Given the description of an element on the screen output the (x, y) to click on. 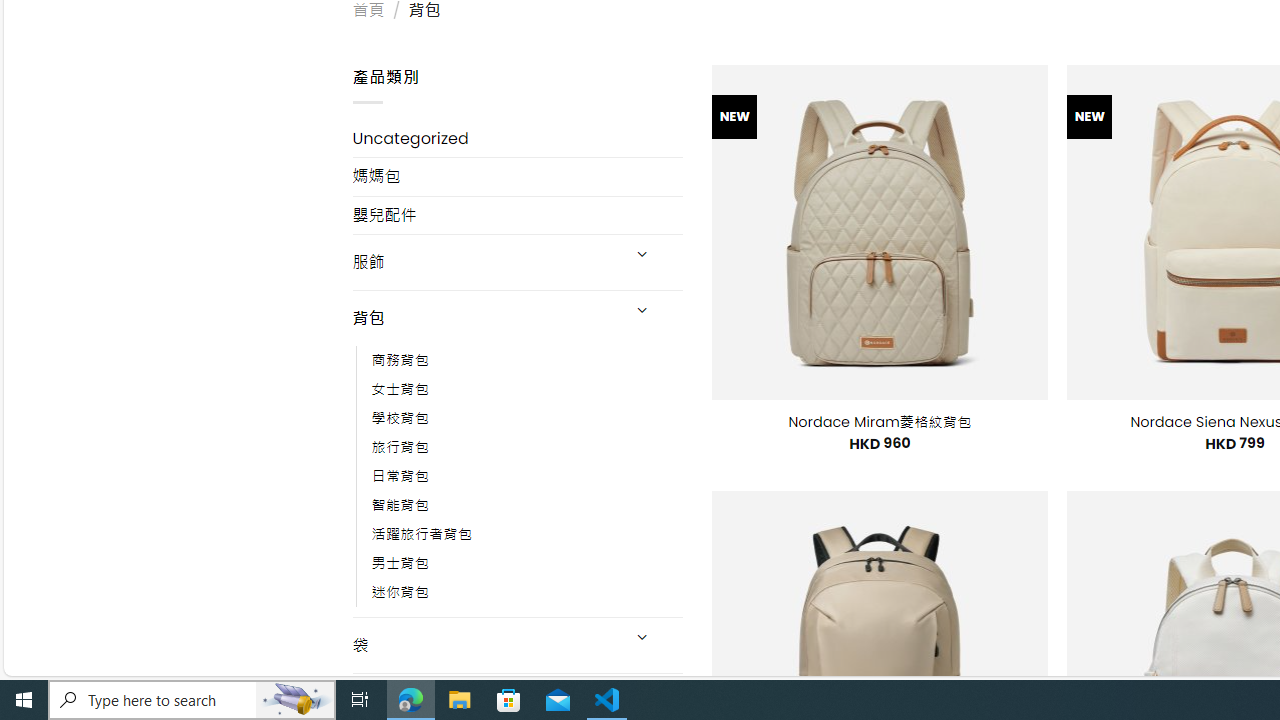
Uncategorized (517, 137)
